Given the description of an element on the screen output the (x, y) to click on. 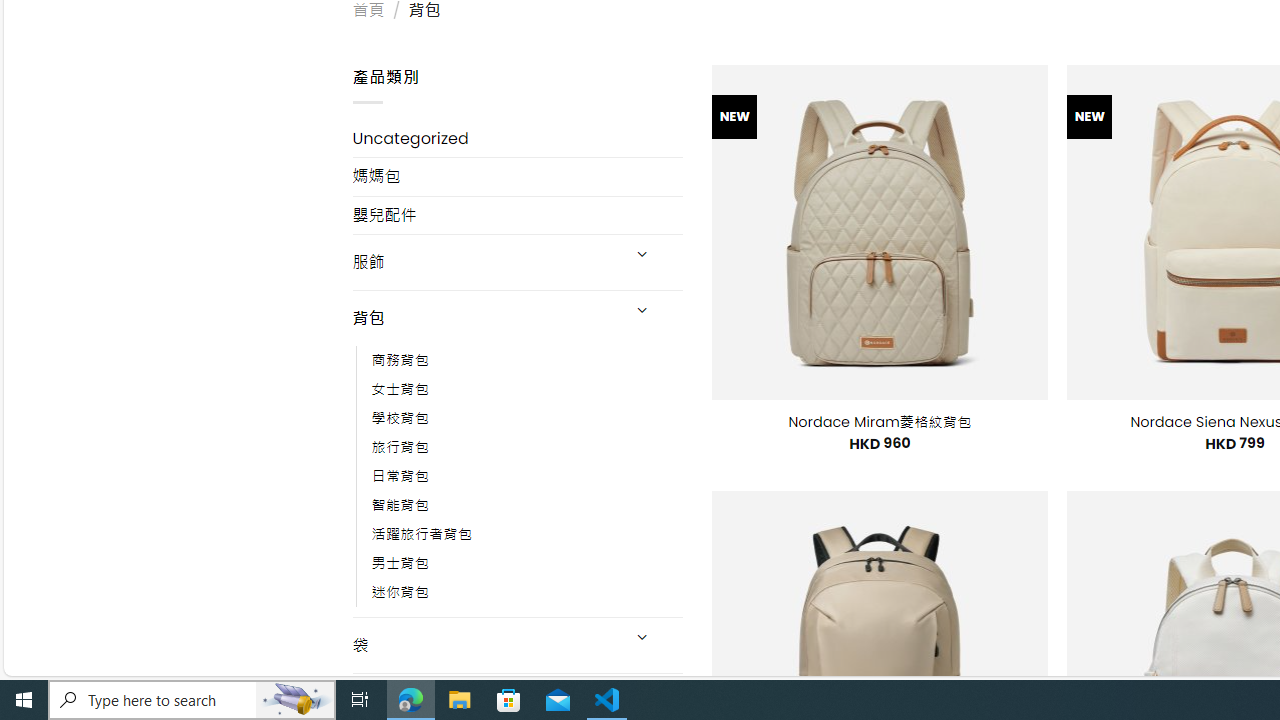
Uncategorized (517, 137)
